Given the description of an element on the screen output the (x, y) to click on. 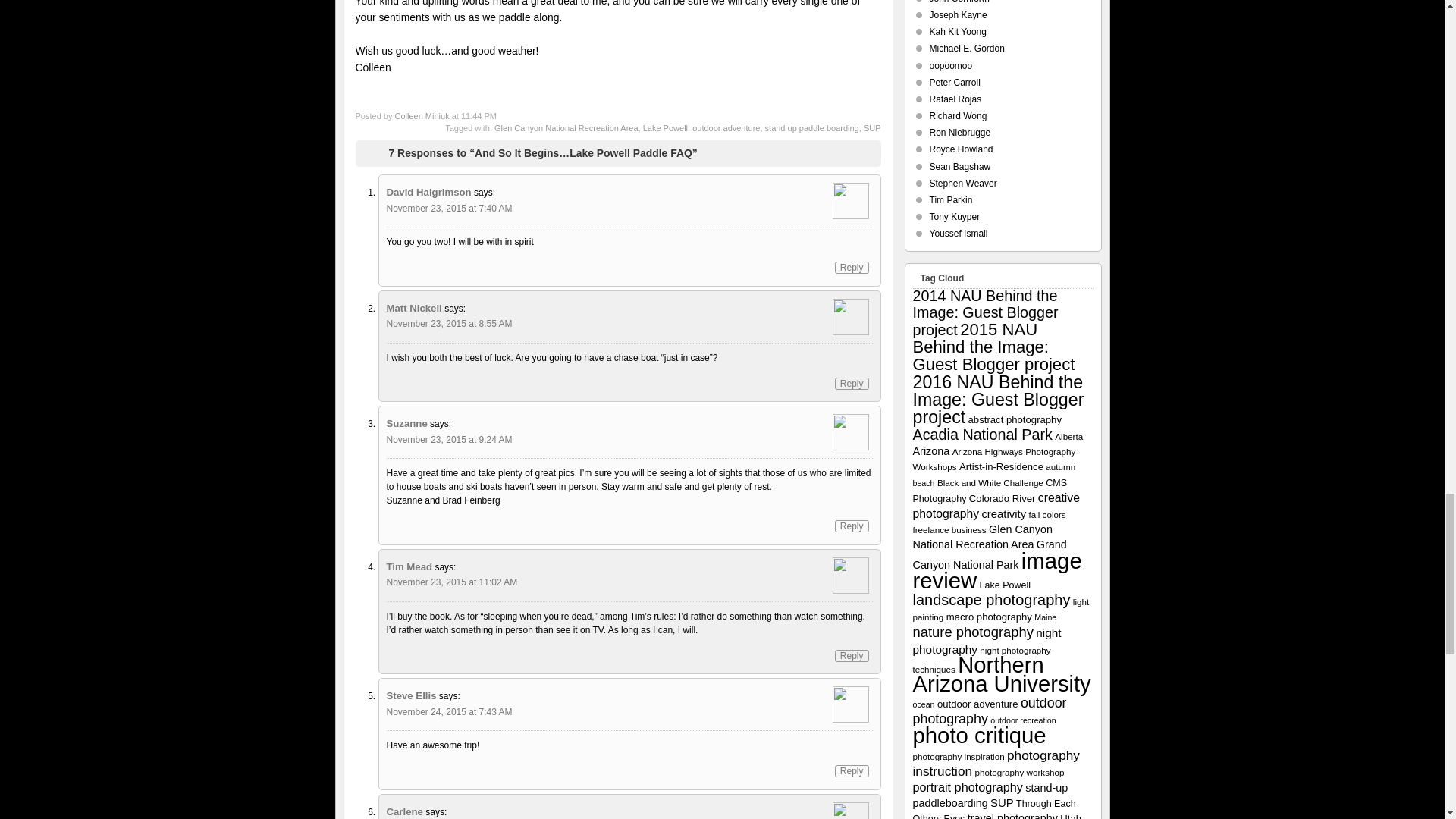
November 23, 2015 at 7:40 AM (449, 208)
SUP (871, 127)
Colleen Miniuk (421, 115)
outdoor adventure (726, 127)
Reply (851, 267)
stand up paddle boarding (812, 127)
November 23, 2015 at 8:55 AM (449, 323)
Glen Canyon National Recreation Area (567, 127)
Suzanne (407, 423)
Reply (851, 383)
Lake Powell (665, 127)
